Given the description of an element on the screen output the (x, y) to click on. 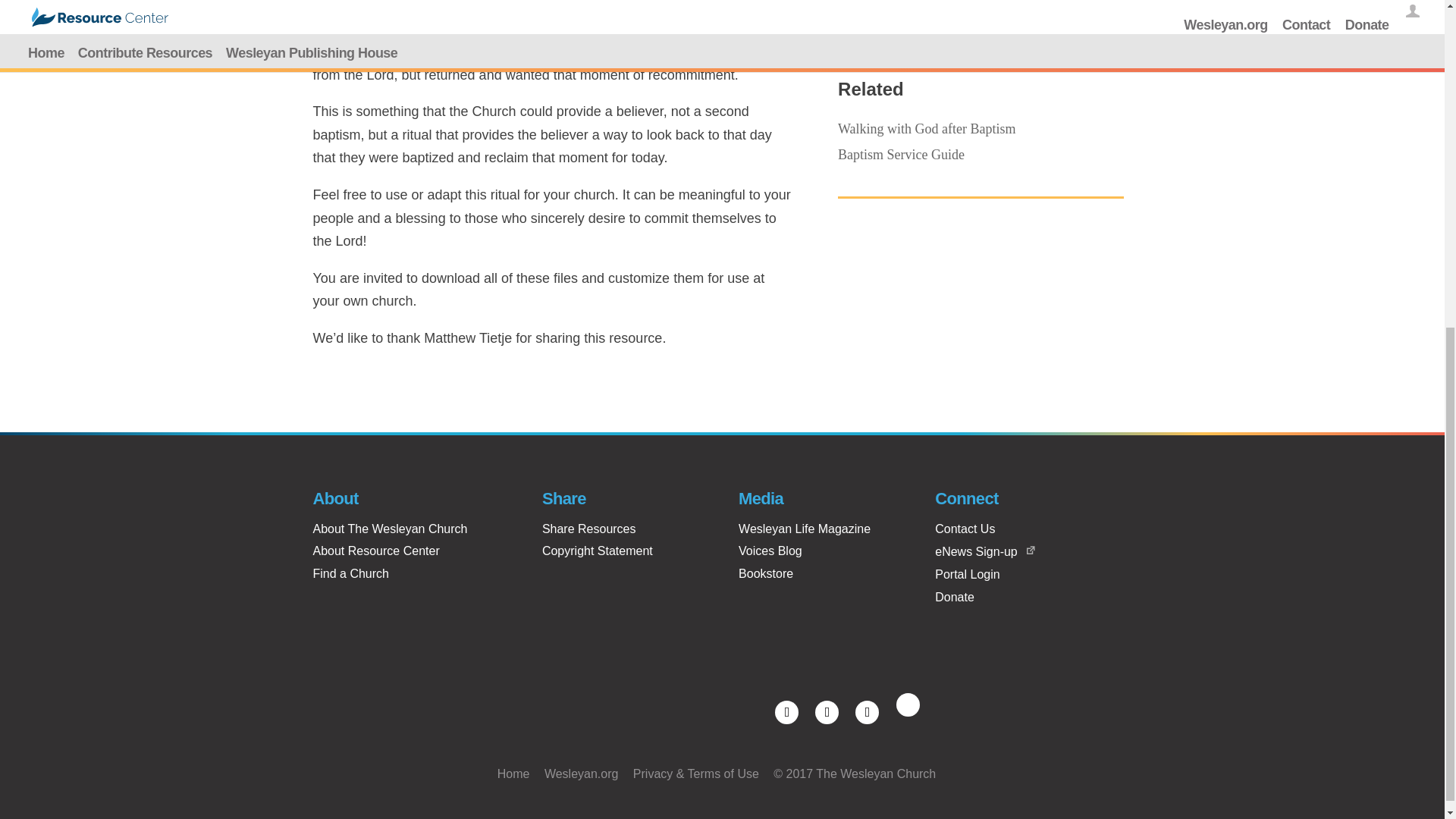
Home (513, 773)
Voices Blog (770, 550)
Bookstore (765, 573)
About Resource Center (376, 550)
Copyright Statement (596, 550)
Share Resources (588, 528)
Walking with God after Baptism (927, 128)
About The Wesleyan Church (390, 528)
Wesleyan Life Magazine (804, 528)
Wesleyan.org (581, 773)
Donate (954, 596)
Contact Us (964, 528)
Portal Login (966, 574)
eNews Sign-up (975, 551)
Find a Church (350, 573)
